Given the description of an element on the screen output the (x, y) to click on. 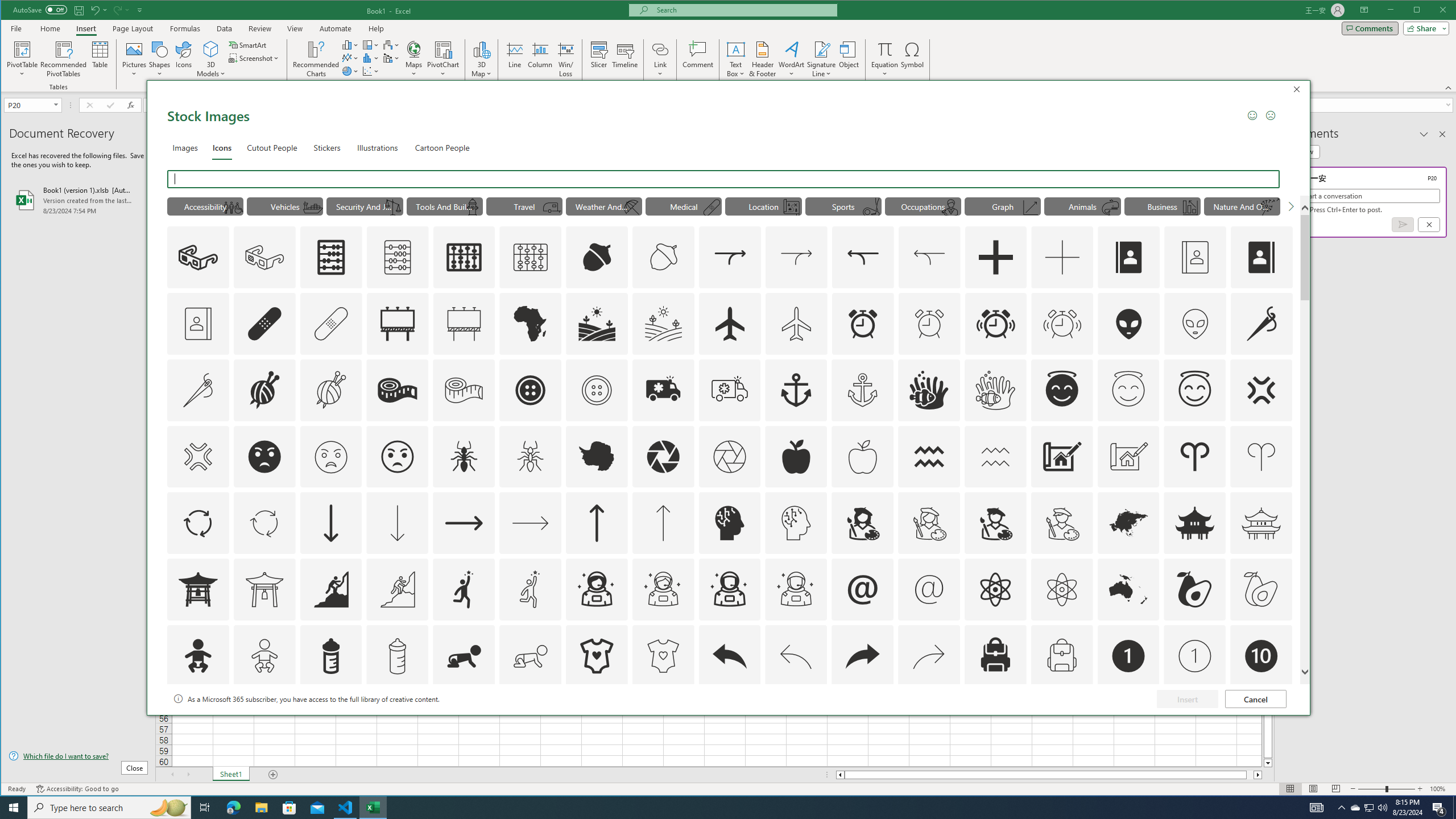
Insert Line or Area Chart (350, 57)
AutomationID: Icons_AlienFace_M (1194, 323)
AutomationID: Icons_Abacus_M (397, 256)
AutomationID: Icons_BeachUmbrella_M (631, 207)
AutomationID: Icons_Dandelion_M (1269, 207)
AutomationID: Icons_TreasureMap_M (791, 207)
AutomationID: Icons_AngelFace (1061, 389)
AutomationID: Icons_Aspiration_M (397, 589)
